Given the description of an element on the screen output the (x, y) to click on. 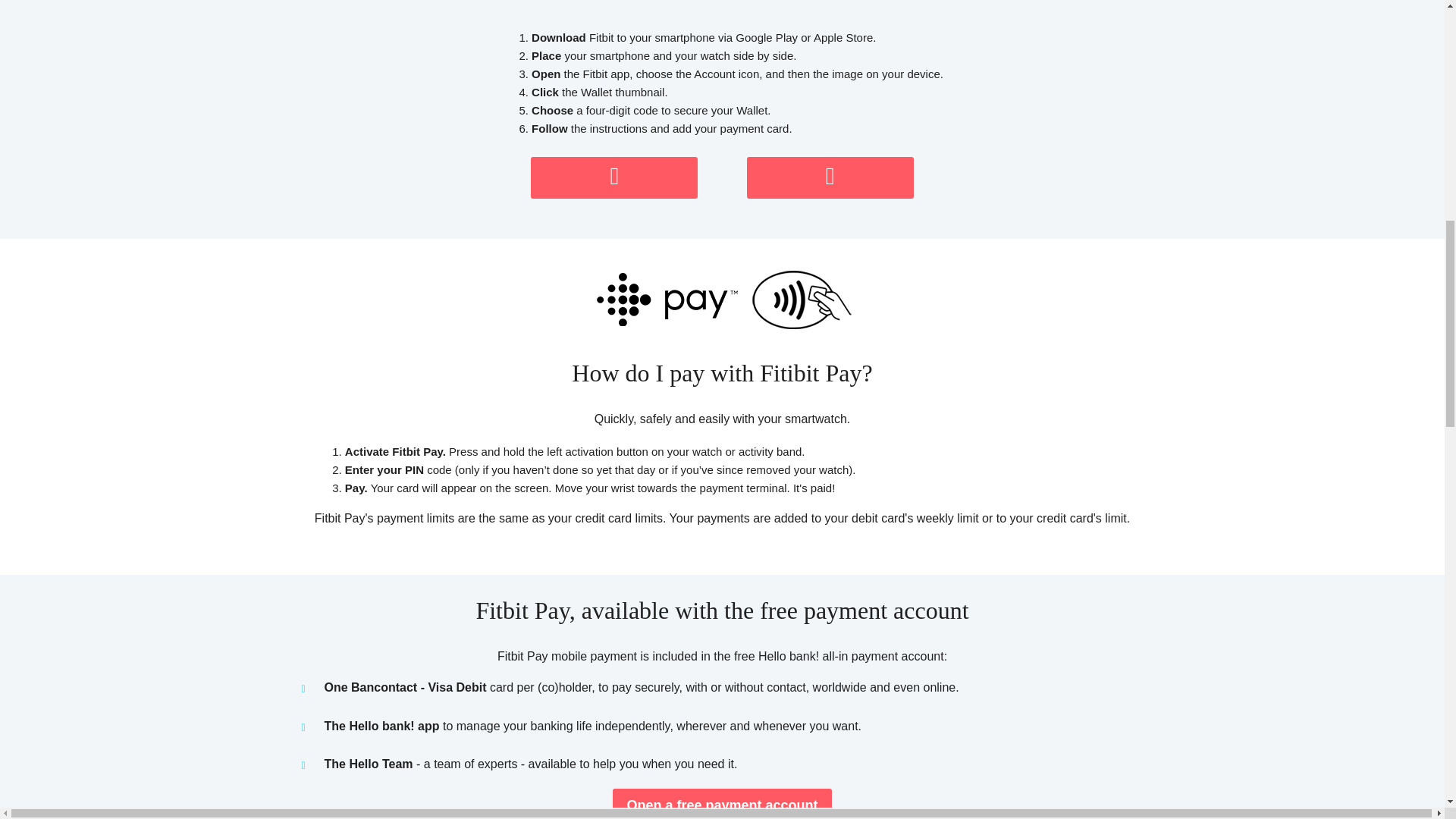
fitbitandwirelesspaylogo (722, 299)
